Given the description of an element on the screen output the (x, y) to click on. 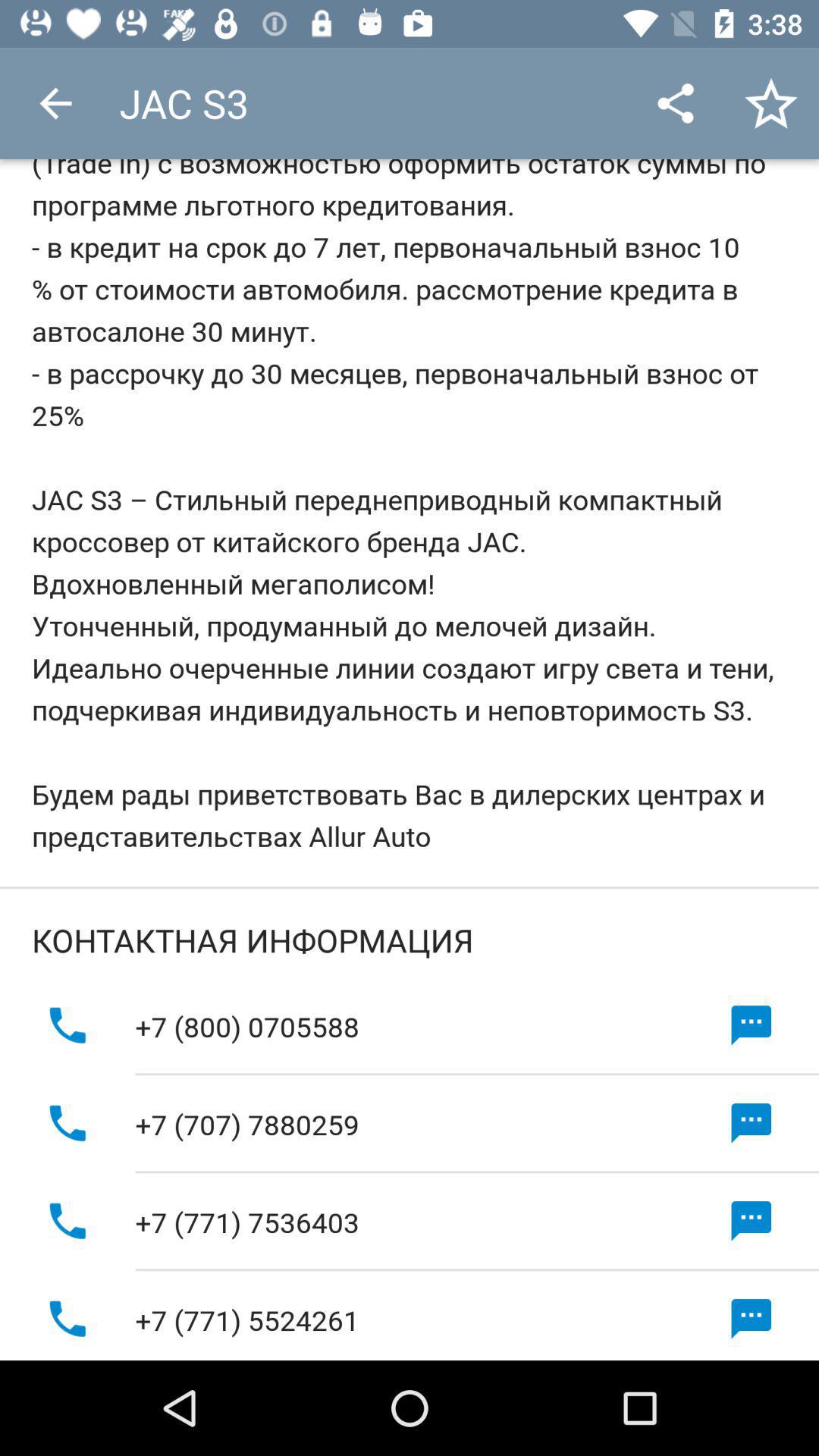
open the icon to the left of jac s3 (55, 103)
